Given the description of an element on the screen output the (x, y) to click on. 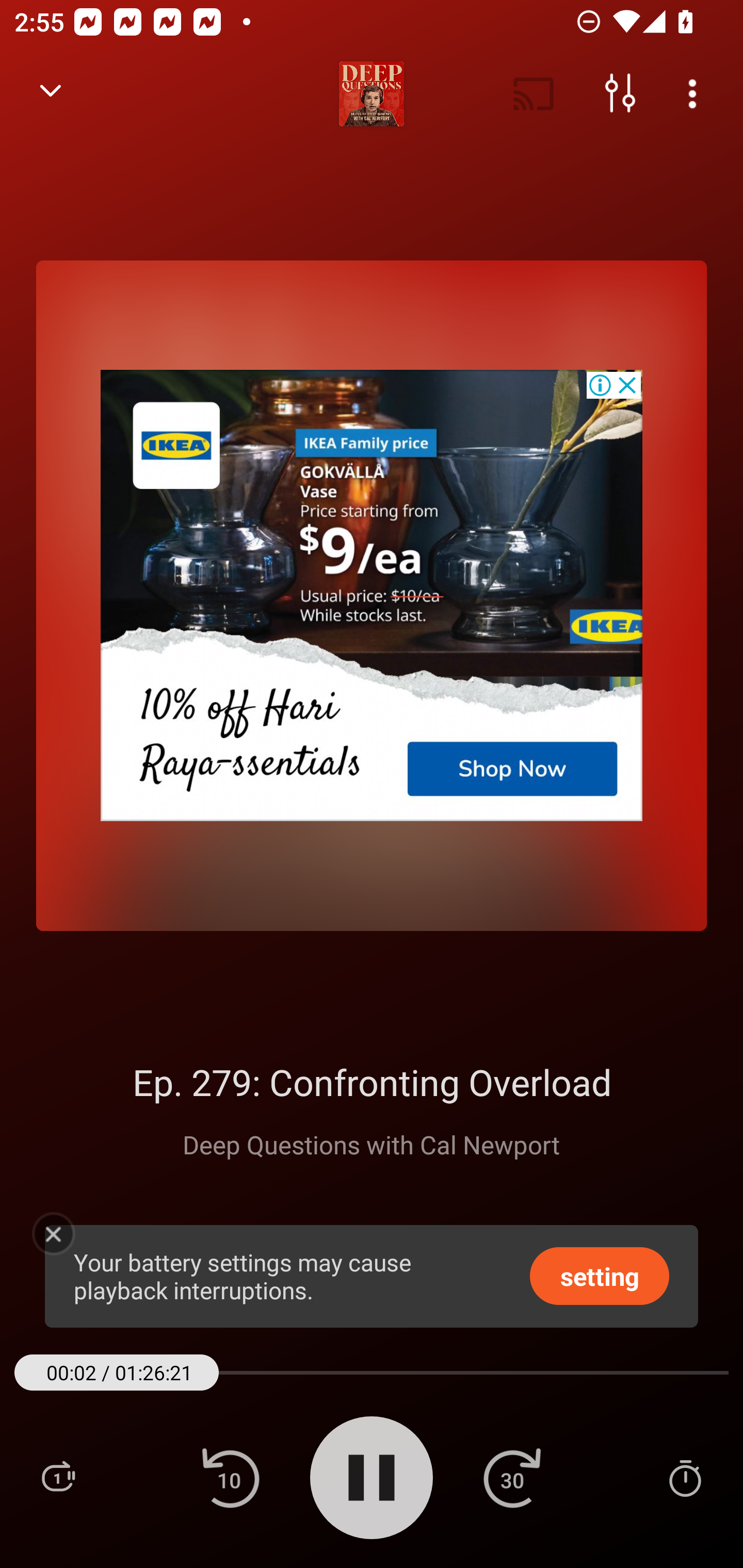
Cast. Disconnected (533, 93)
 Back (50, 94)
ramadan (371, 595)
Ep. 279: Confronting Overload (371, 1081)
Deep Questions with Cal Newport (371, 1144)
setting (599, 1275)
 Playlist (57, 1477)
Sleep Timer  (684, 1477)
